Given the description of an element on the screen output the (x, y) to click on. 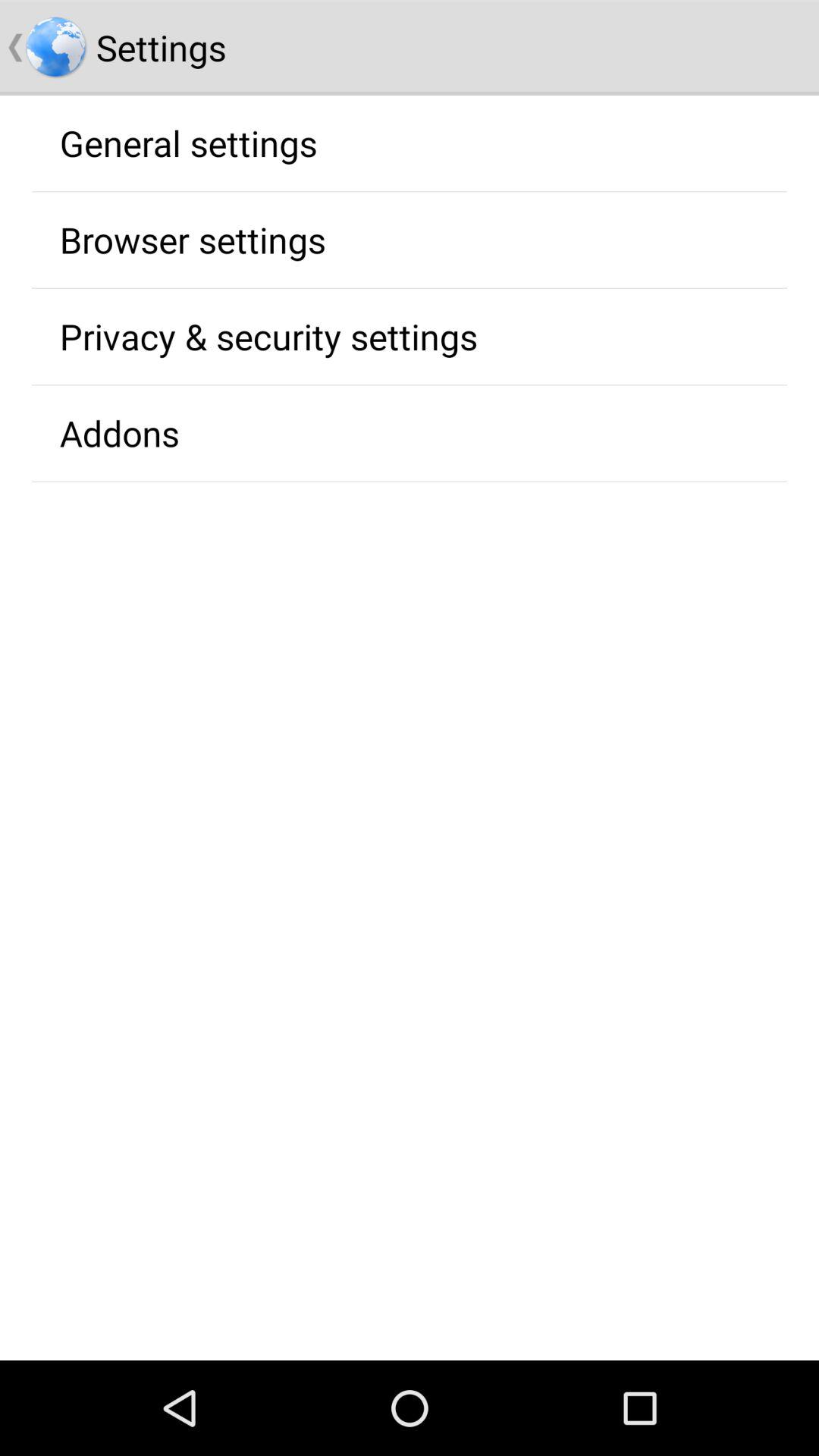
launch the browser settings icon (192, 239)
